Given the description of an element on the screen output the (x, y) to click on. 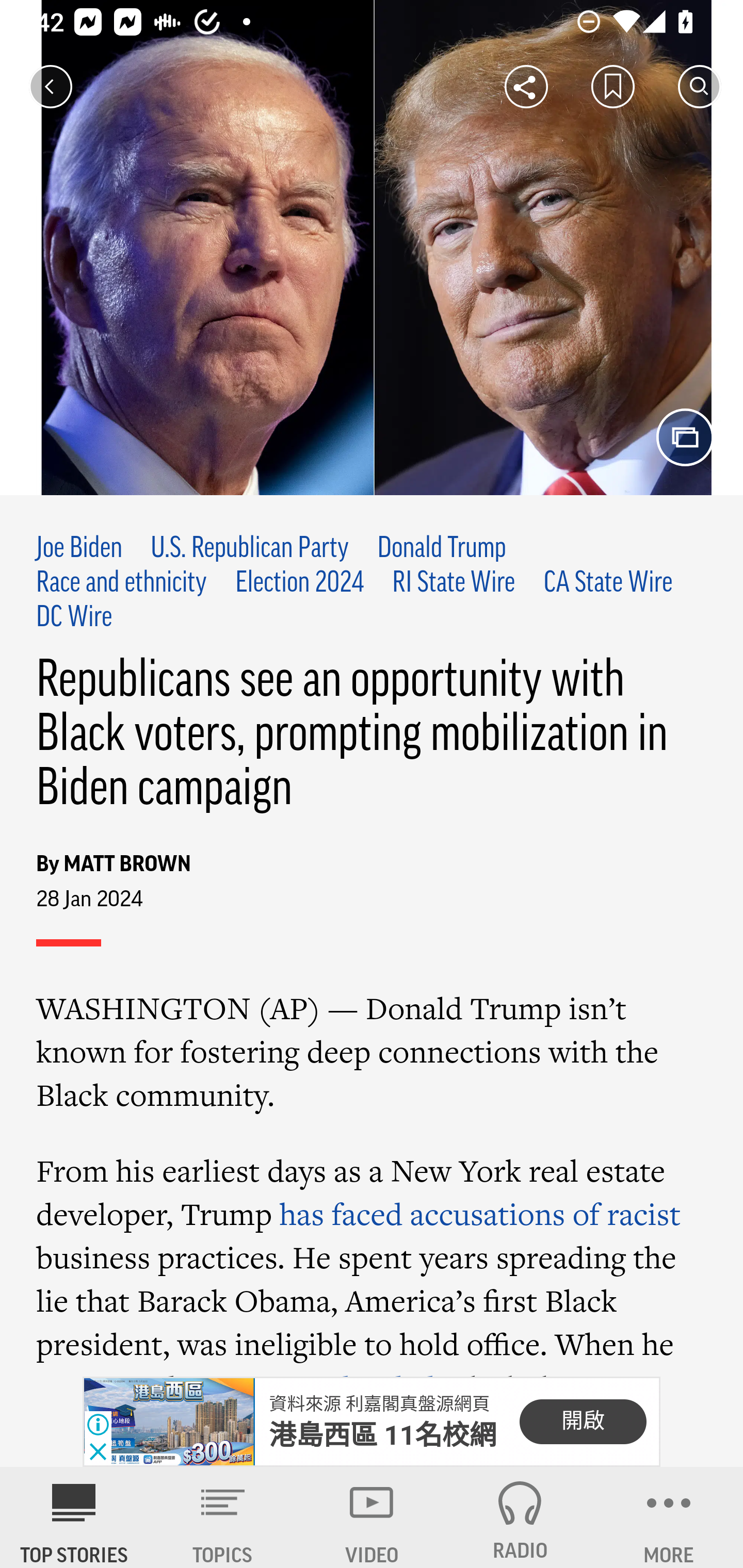
Joe Biden (79, 549)
U.S. Republican Party (249, 549)
Donald Trump (441, 549)
Race and ethnicity (121, 584)
Election 2024 (299, 584)
RI State Wire (453, 584)
CA State Wire (607, 584)
DC Wire (74, 618)
has faced accusations of racist (479, 1213)
資料來源 利嘉閣真盤源網頁 (379, 1403)
開啟 (582, 1421)
港島西區 11名校網 (382, 1434)
AP News TOP STORIES (74, 1517)
TOPICS (222, 1517)
VIDEO (371, 1517)
RADIO (519, 1517)
MORE (668, 1517)
